Given the description of an element on the screen output the (x, y) to click on. 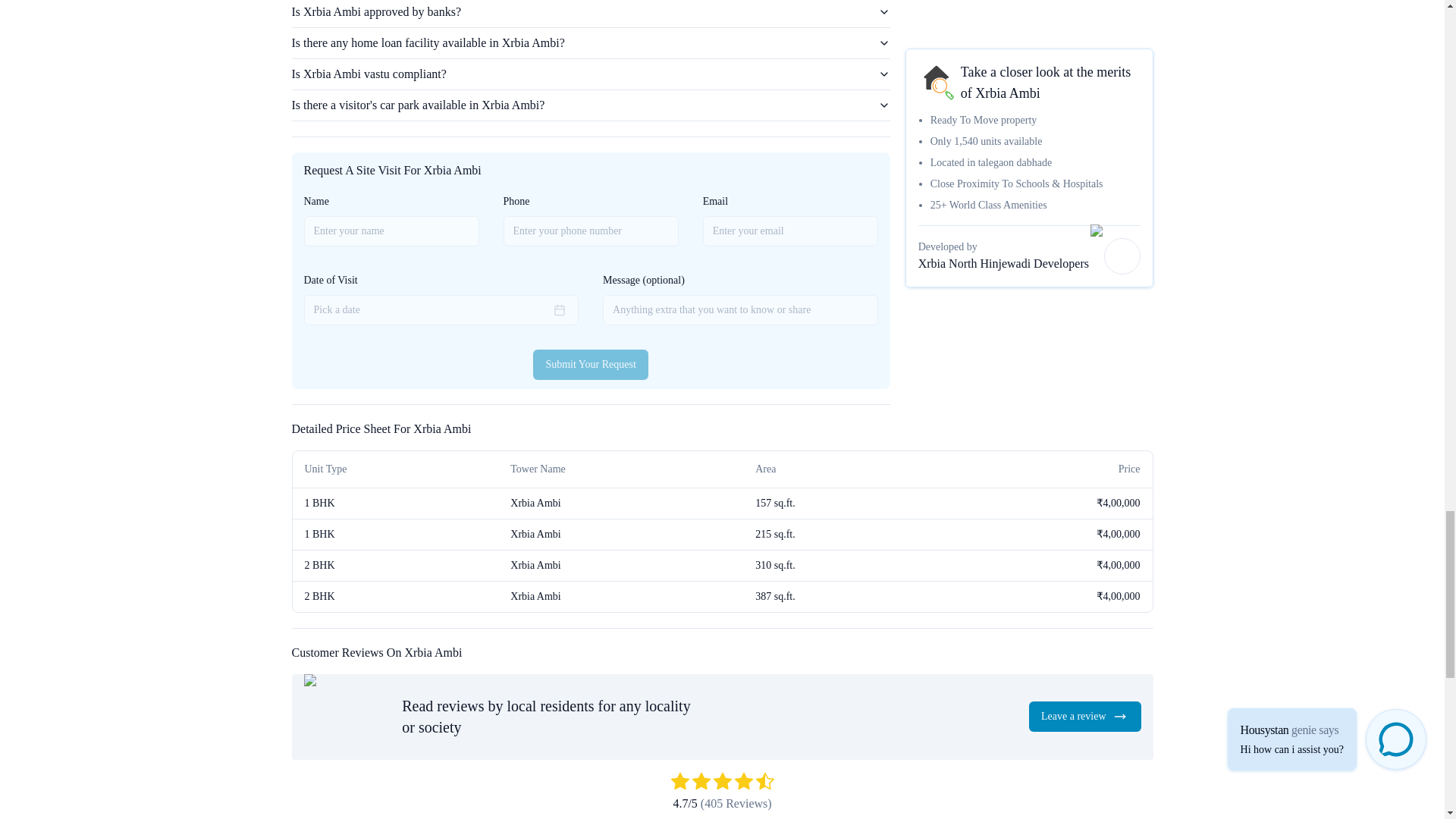
Is there a visitor's car park available in Xrbia Ambi? (590, 105)
Submit Your Request (589, 364)
Is there any home loan facility available in Xrbia Ambi? (590, 42)
Is Xrbia Ambi vastu compliant? (590, 73)
Pick a date (440, 309)
Is Xrbia Ambi approved by banks? (590, 13)
